Given the description of an element on the screen output the (x, y) to click on. 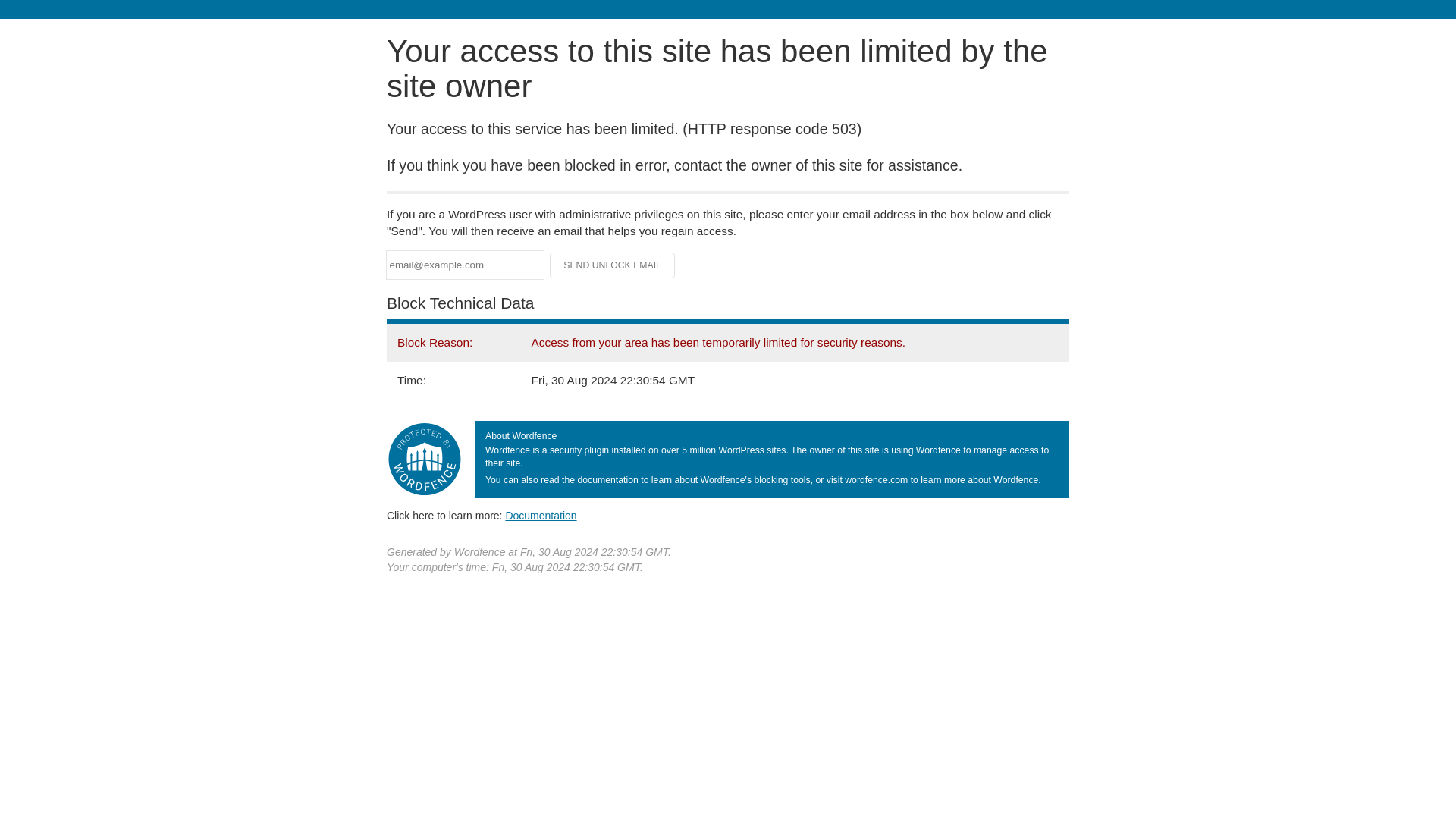
Send Unlock Email (612, 265)
Send Unlock Email (612, 265)
Documentation (540, 515)
